Given the description of an element on the screen output the (x, y) to click on. 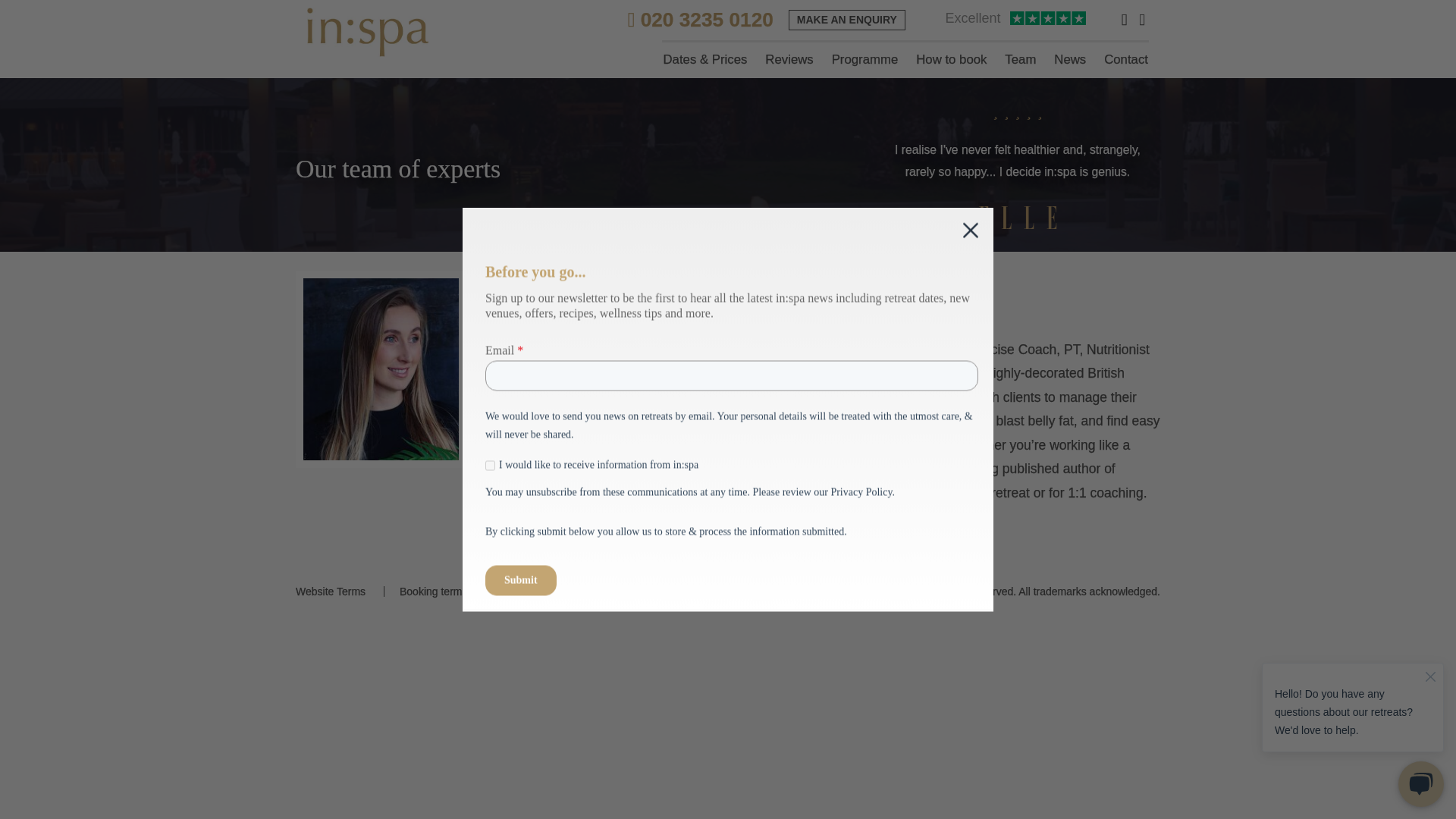
Reviews (788, 59)
Contact (1125, 59)
MAKE AN ENQUIRY (847, 19)
How to book (951, 59)
Website Terms (330, 591)
Sitemap (690, 591)
Programme (864, 59)
News (1070, 59)
Booking terms and conditions (468, 591)
Privacy policy (606, 591)
Team (1019, 59)
Customer reviews powered by Trustpilot (1014, 19)
